Given the description of an element on the screen output the (x, y) to click on. 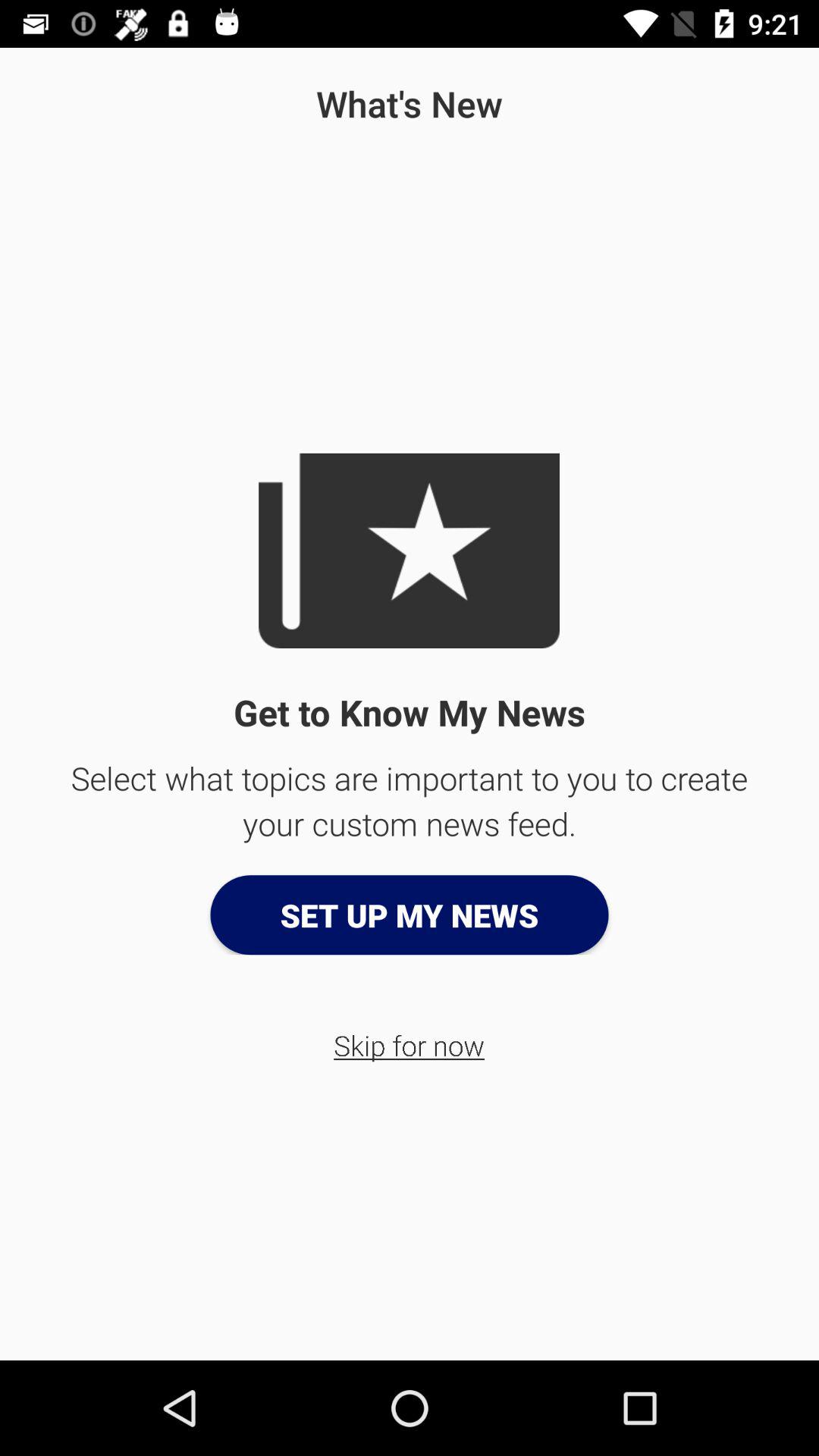
scroll to set up my icon (409, 914)
